Given the description of an element on the screen output the (x, y) to click on. 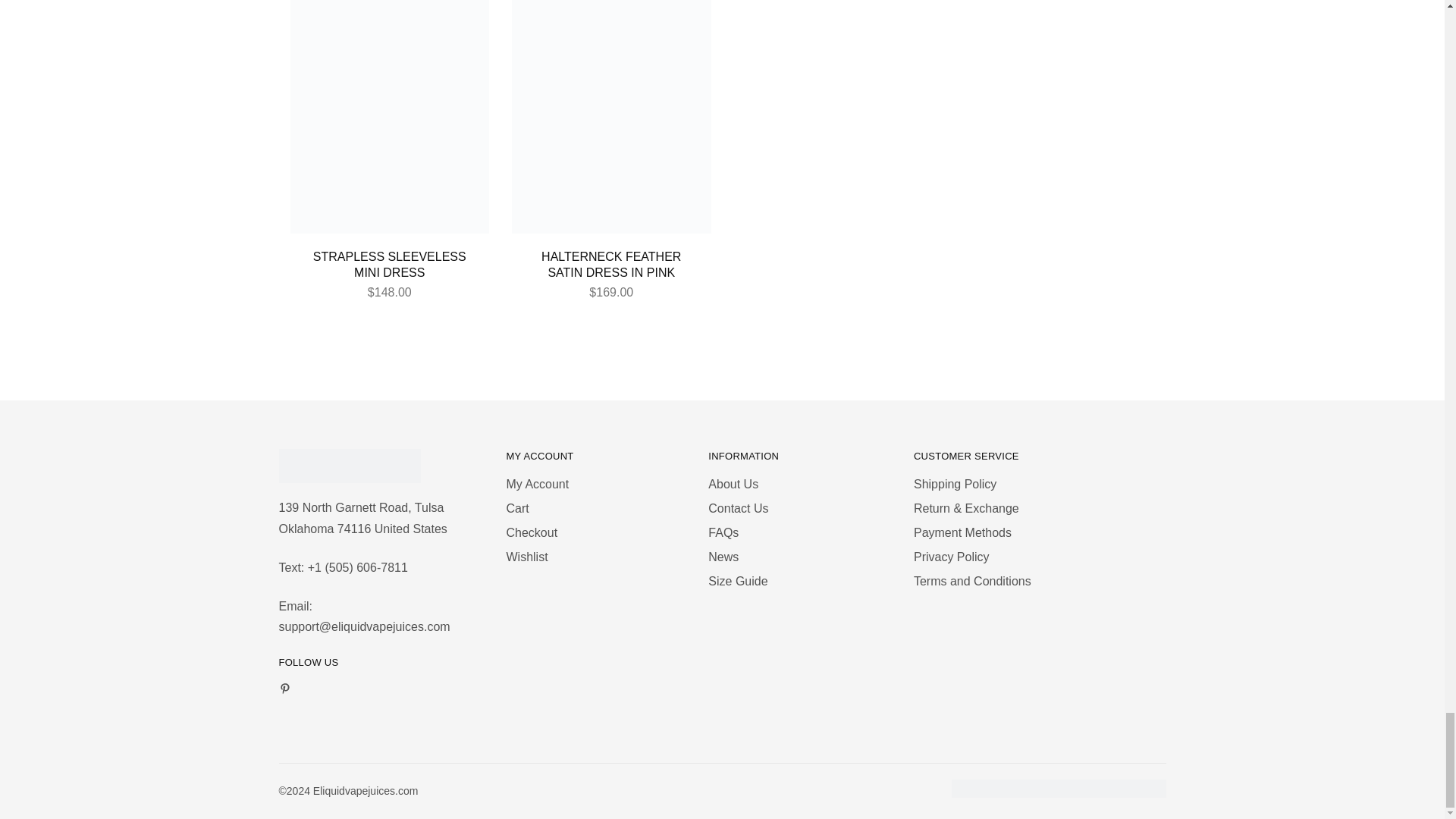
Pinterest (284, 690)
